Given the description of an element on the screen output the (x, y) to click on. 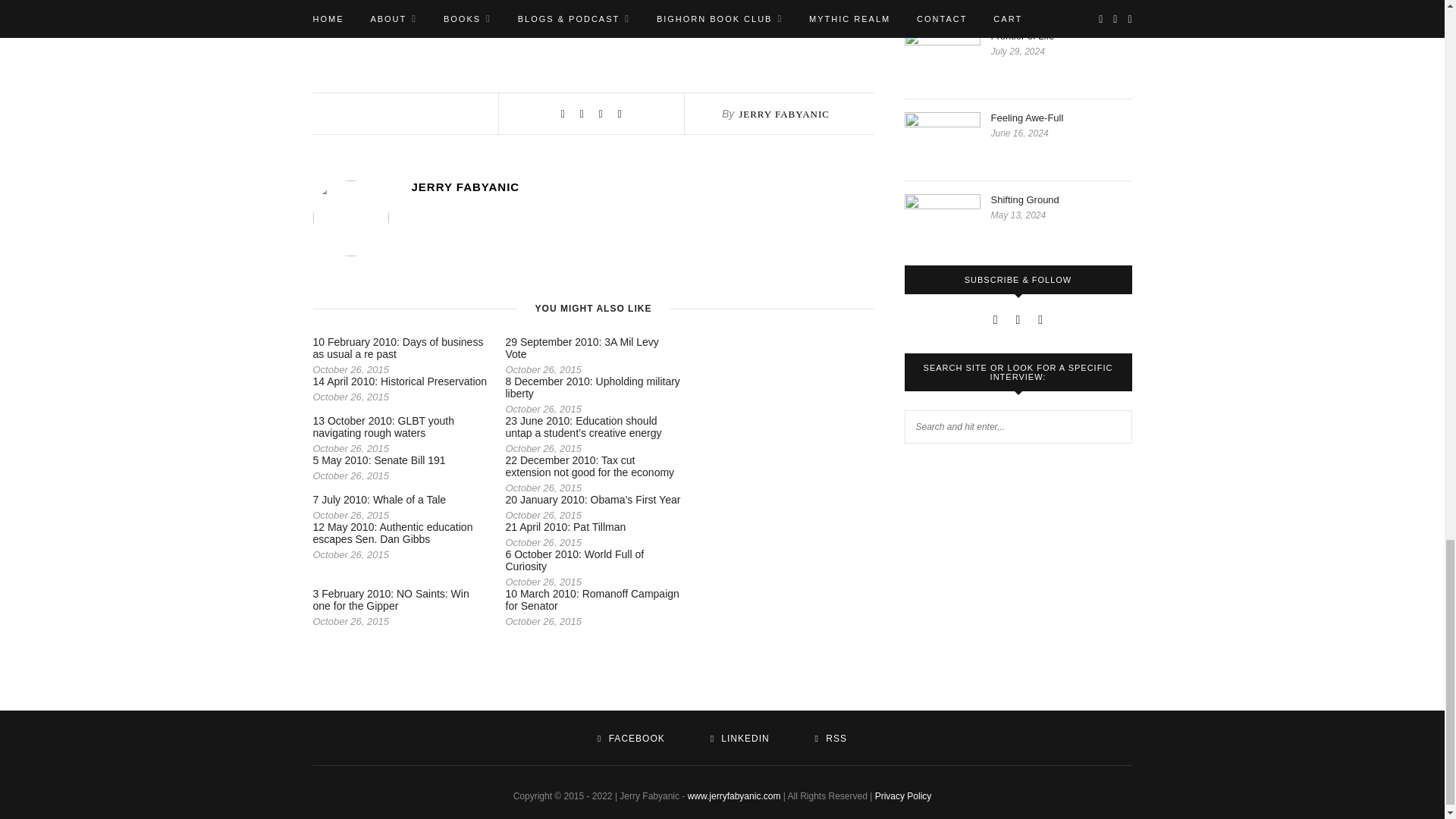
Posts by Jerry Fabyanic (783, 113)
Posts by Jerry Fabyanic (641, 186)
